Given the description of an element on the screen output the (x, y) to click on. 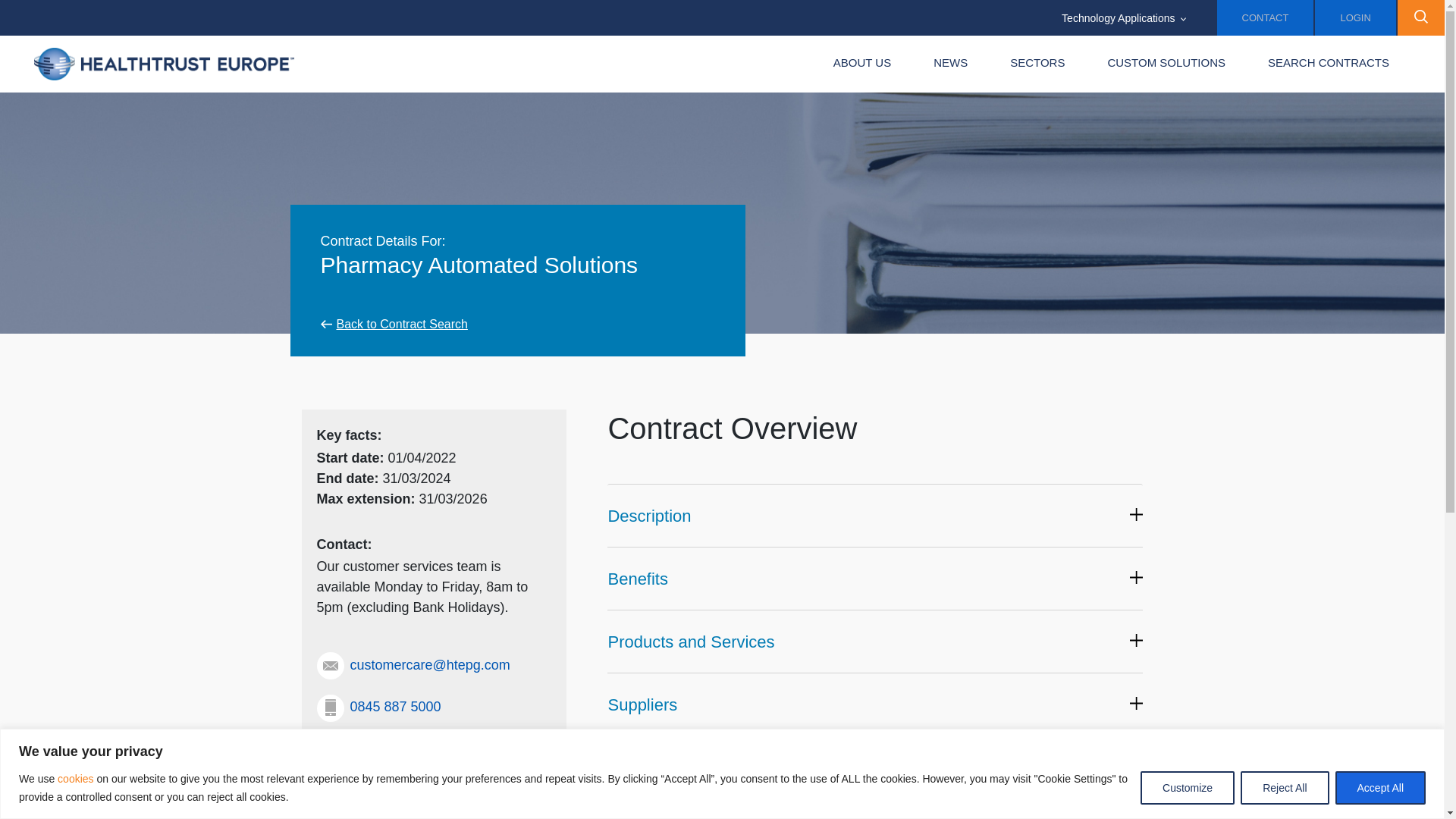
News (950, 63)
Reject All (1283, 786)
LOGIN (1354, 18)
About Us (862, 63)
SECTORS (1037, 63)
Sectors (1037, 63)
Accept All (1380, 786)
Technology Applications (1123, 18)
cookies (74, 777)
Technology Applications (1123, 18)
NEWS (950, 63)
Customize (1187, 786)
ABOUT US (862, 63)
CONTACT (1265, 18)
